Given the description of an element on the screen output the (x, y) to click on. 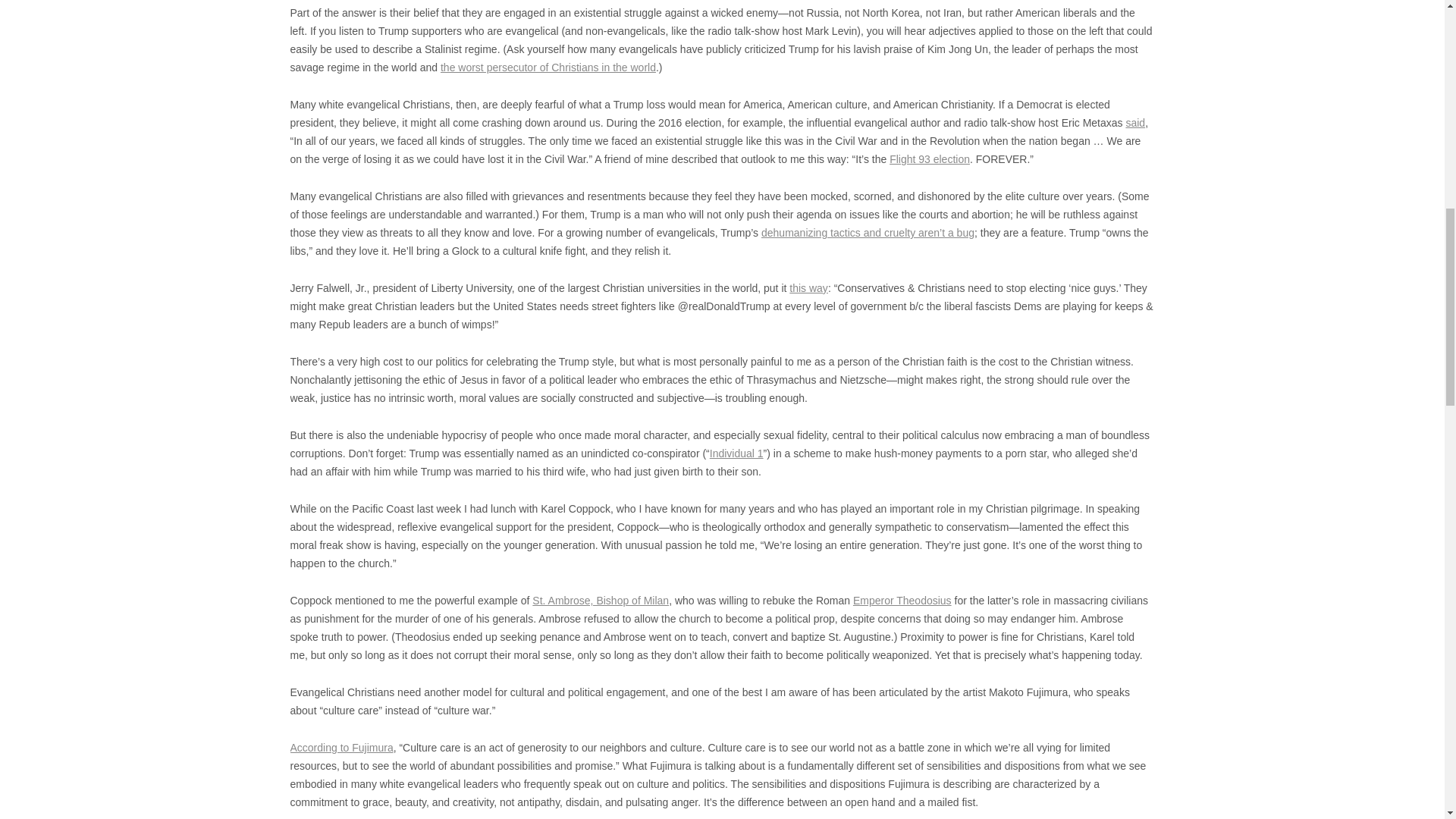
the worst persecutor of Christians in the world (548, 67)
According to Fujimura (341, 747)
Individual 1 (736, 453)
said (1134, 122)
this way (808, 287)
Flight 93 election (929, 159)
St. Ambrose, Bishop of Milan (600, 600)
Emperor Theodosius (902, 600)
